Given the description of an element on the screen output the (x, y) to click on. 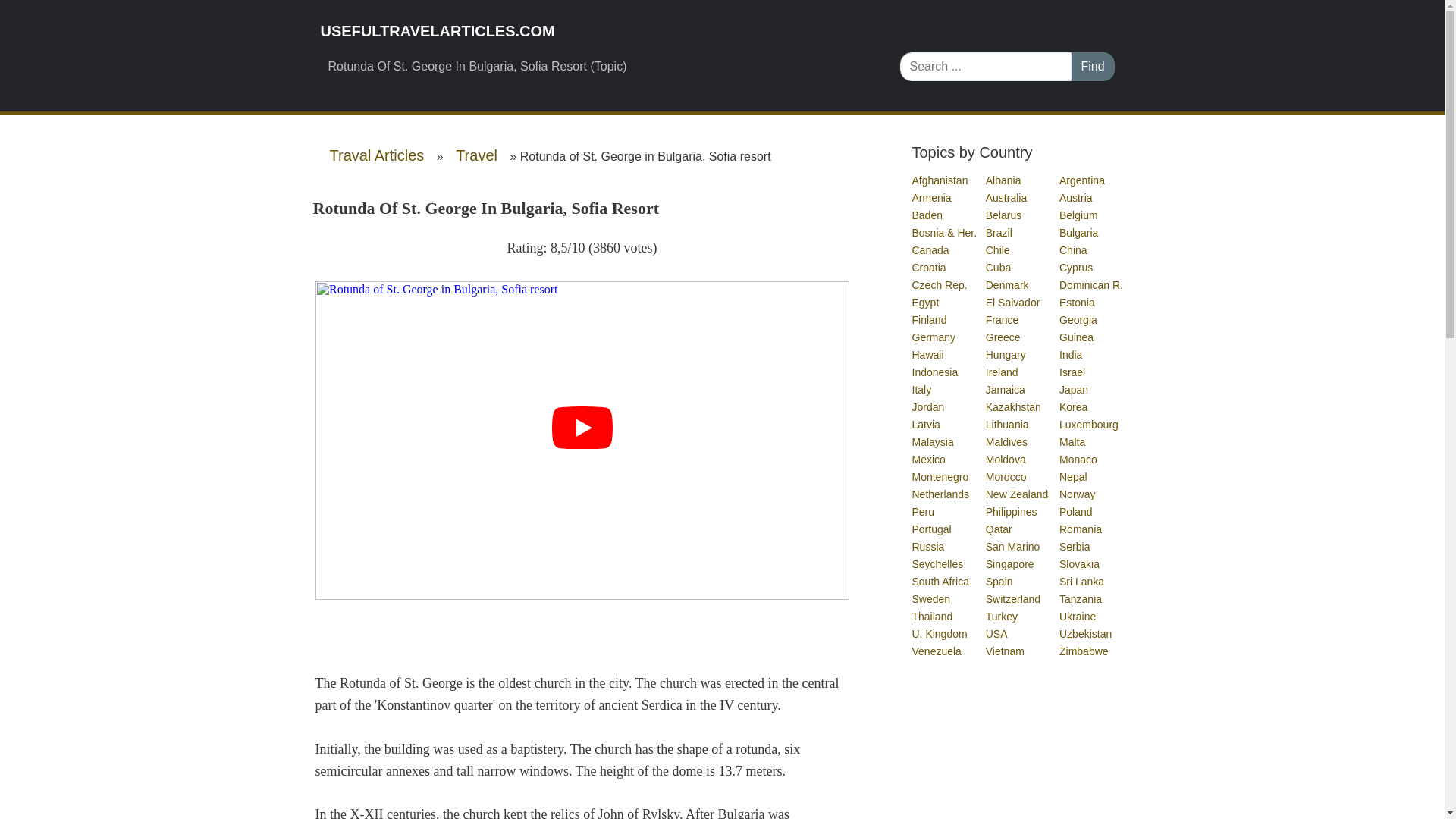
Czech Rep. (939, 285)
Belarus (1004, 215)
Croatia (929, 267)
Armenia (931, 197)
Chile (998, 250)
Cyprus (1076, 267)
Travel (476, 155)
Bulgaria (1079, 232)
Germany (933, 337)
Canada (930, 250)
Afghanistan (940, 180)
Baden (927, 215)
Egypt (925, 302)
Albania (1004, 180)
